Given the description of an element on the screen output the (x, y) to click on. 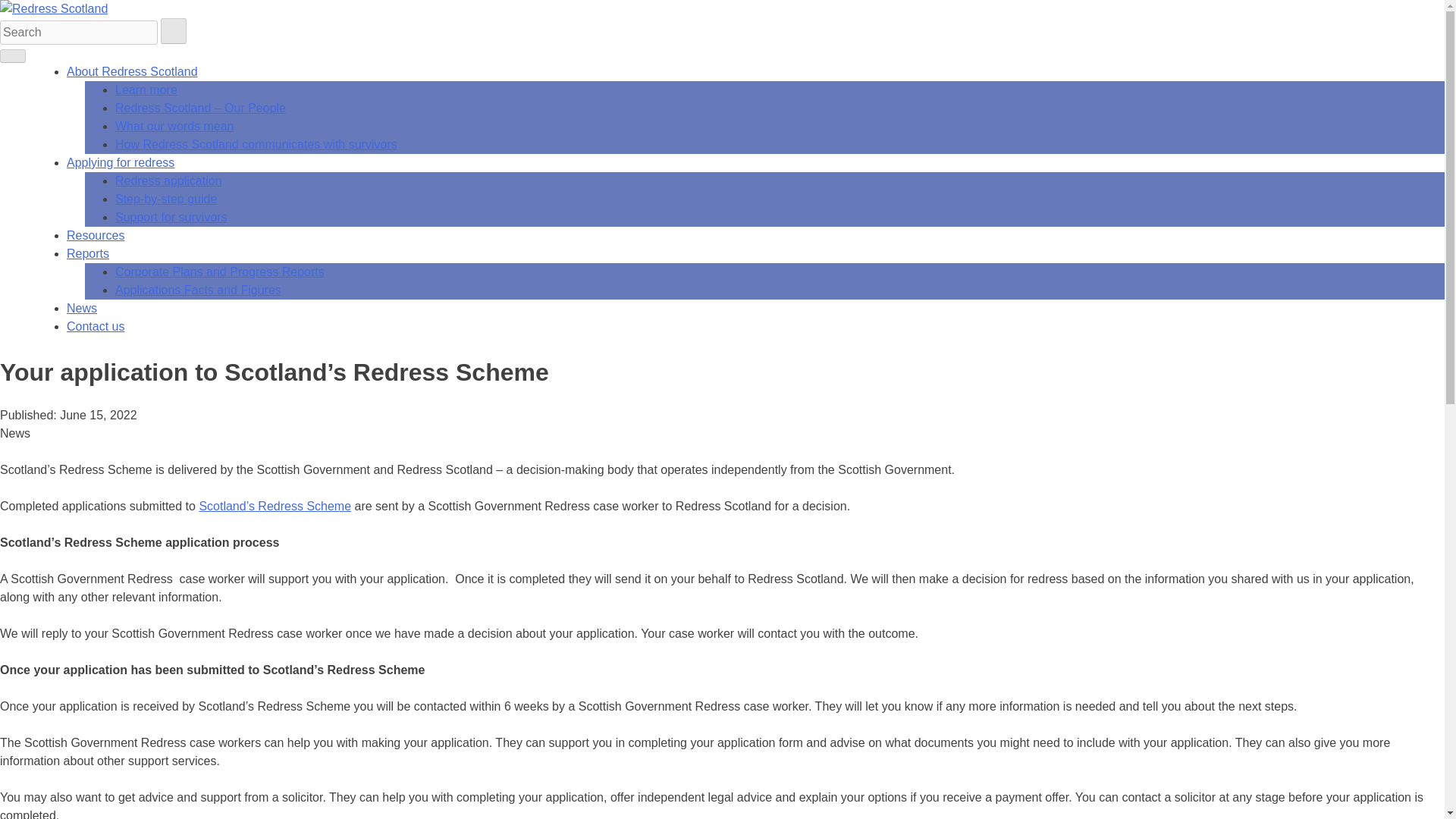
Redress application (168, 180)
How Redress Scotland communicates with survivors (256, 144)
Resources (94, 235)
Support for survivors (171, 216)
Step-by-step guide (165, 198)
About Redress Scotland (132, 71)
What our words mean (174, 125)
Learn more (146, 89)
Applying for redress (120, 162)
Learn more (146, 89)
